Given the description of an element on the screen output the (x, y) to click on. 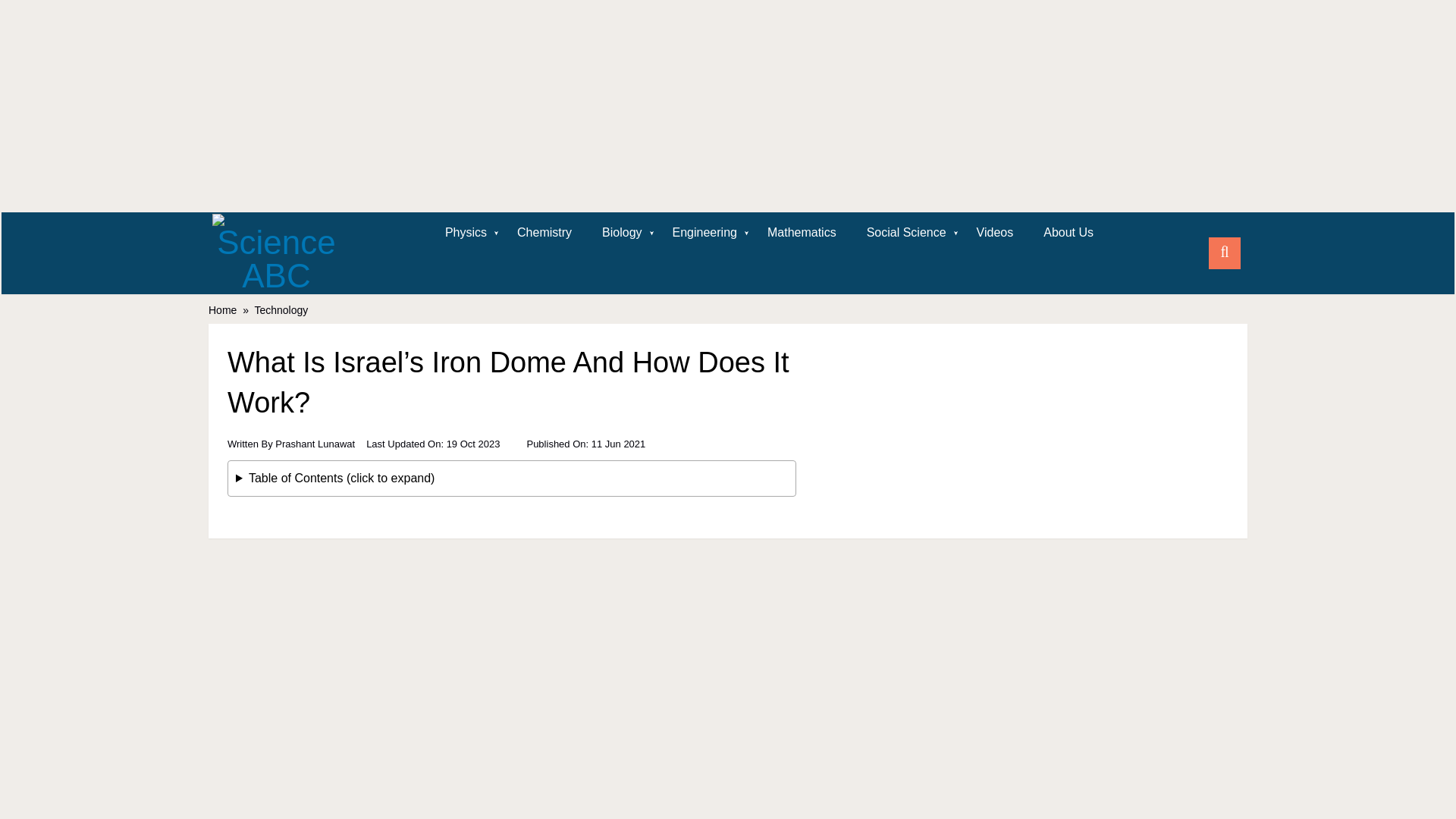
Chemistry (544, 232)
Biology (621, 232)
Mathematics (801, 232)
Social Science (905, 232)
About Us (1067, 232)
Videos (994, 232)
Engineering (705, 232)
Physics (465, 232)
